Given the description of an element on the screen output the (x, y) to click on. 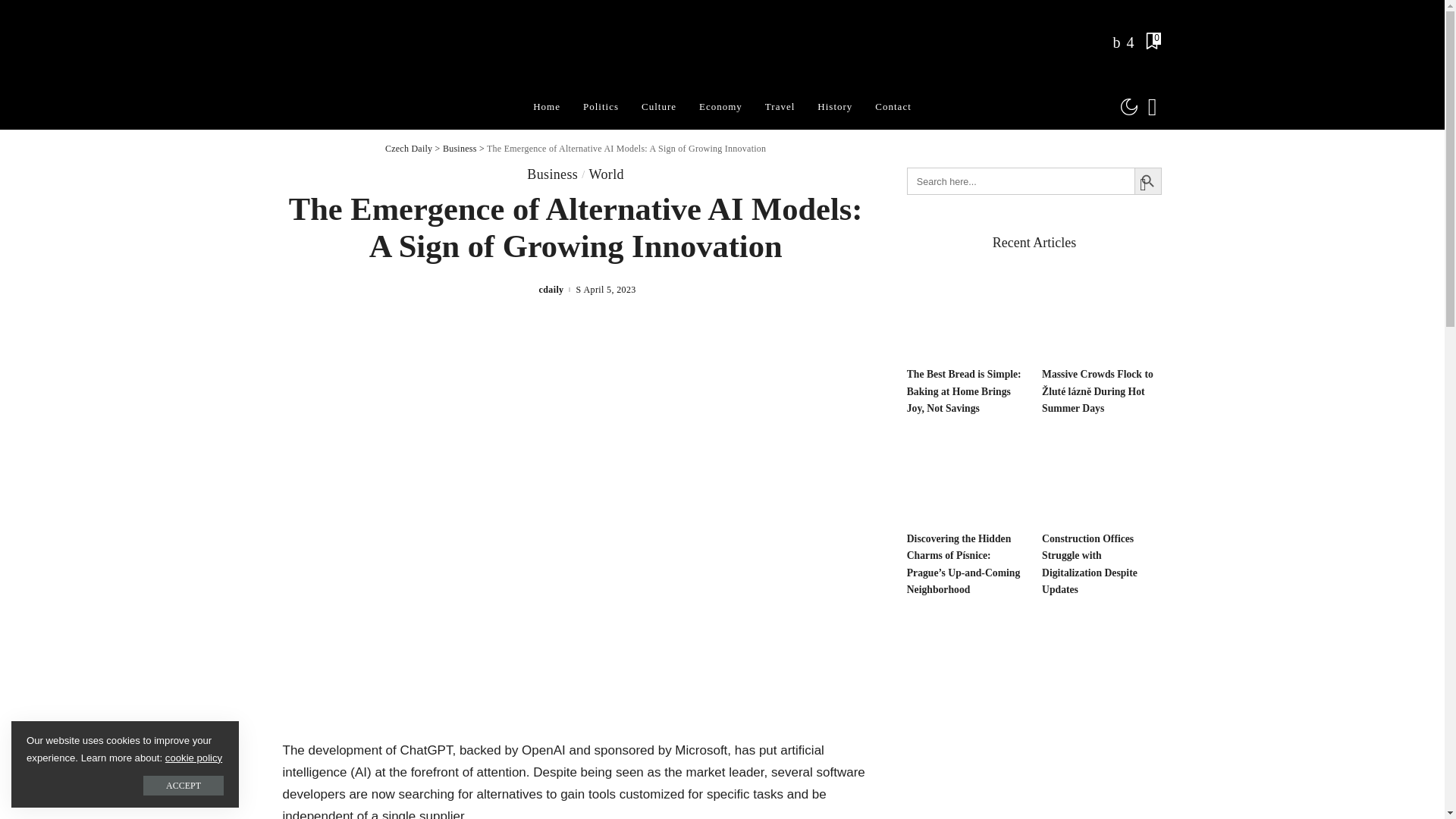
Politics (601, 106)
Travel (780, 106)
Czech Daily (721, 41)
Go to the Business category archives. (459, 148)
Contact (892, 106)
Culture (658, 106)
History (834, 106)
Economy (720, 106)
Go to Czech Daily. (408, 148)
Home (546, 106)
